Given the description of an element on the screen output the (x, y) to click on. 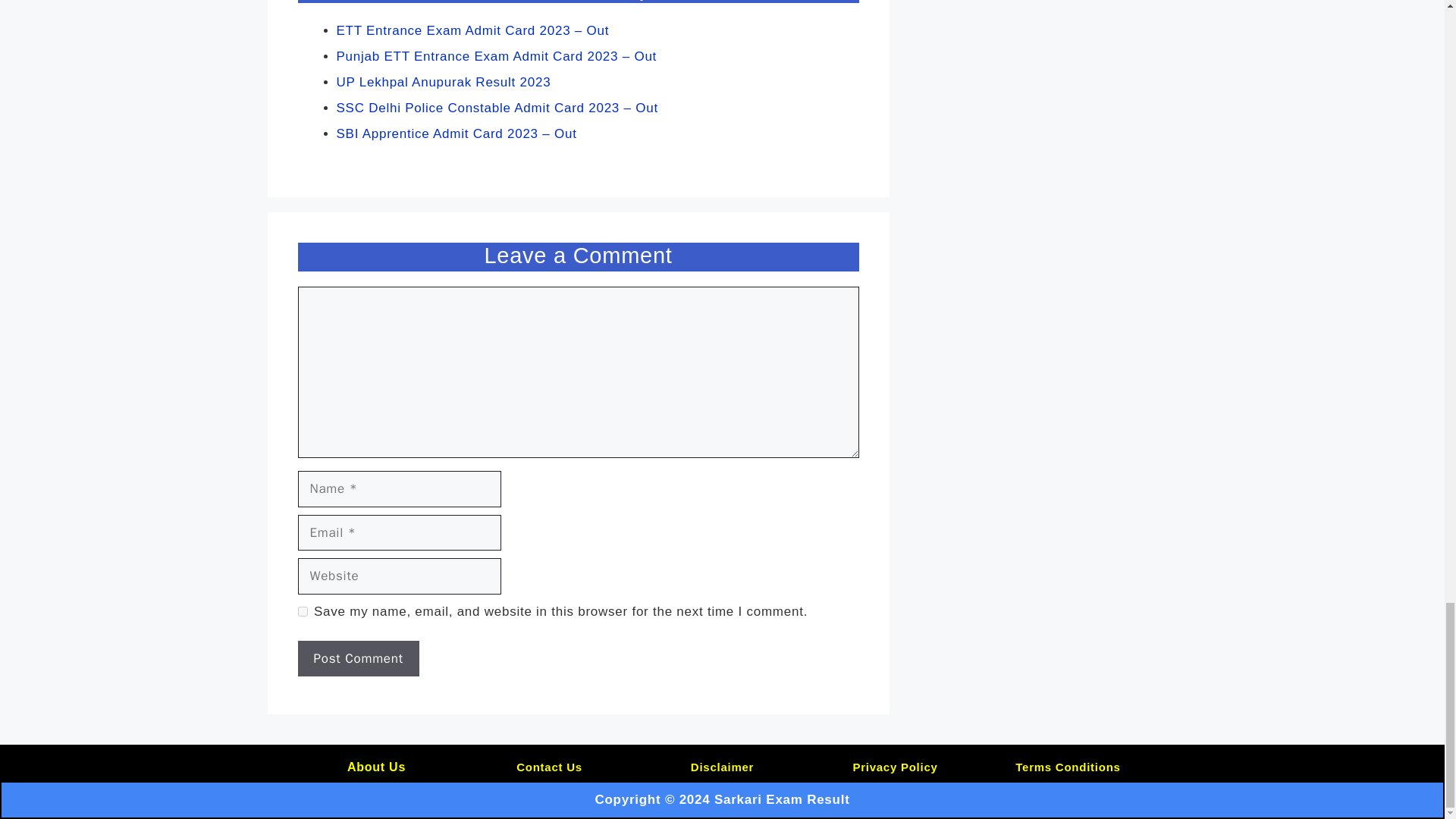
Post Comment (358, 658)
UP Lekhpal Anupurak Result 2023 (443, 82)
Post Comment (358, 658)
yes (302, 611)
